Given the description of an element on the screen output the (x, y) to click on. 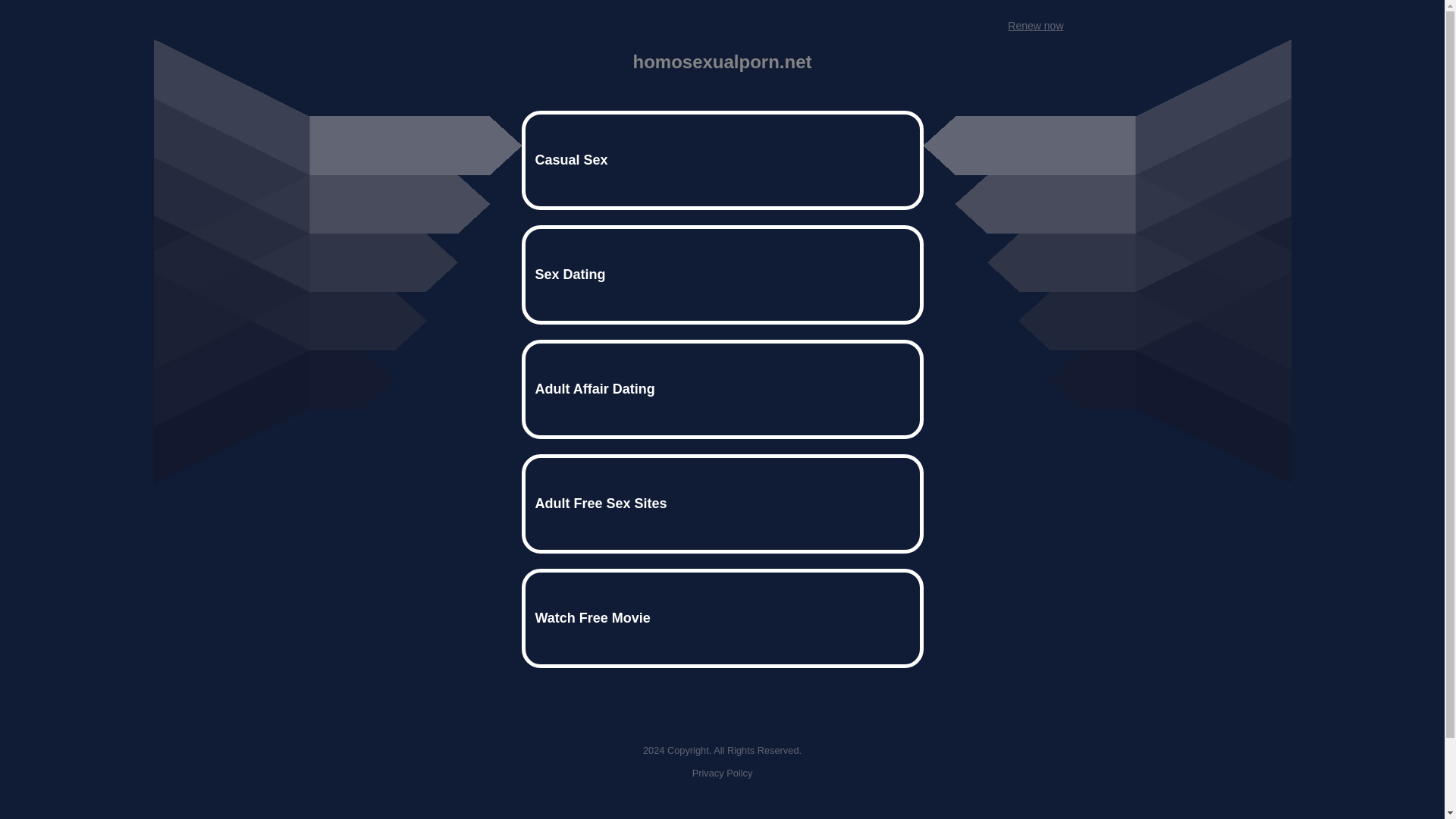
Renew now (1034, 25)
Adult Free Sex Sites (722, 503)
Sex Dating (722, 274)
Privacy Policy (722, 772)
Adult Affair Dating (722, 388)
Casual Sex (722, 159)
Watch Free Movie (722, 618)
